Given the description of an element on the screen output the (x, y) to click on. 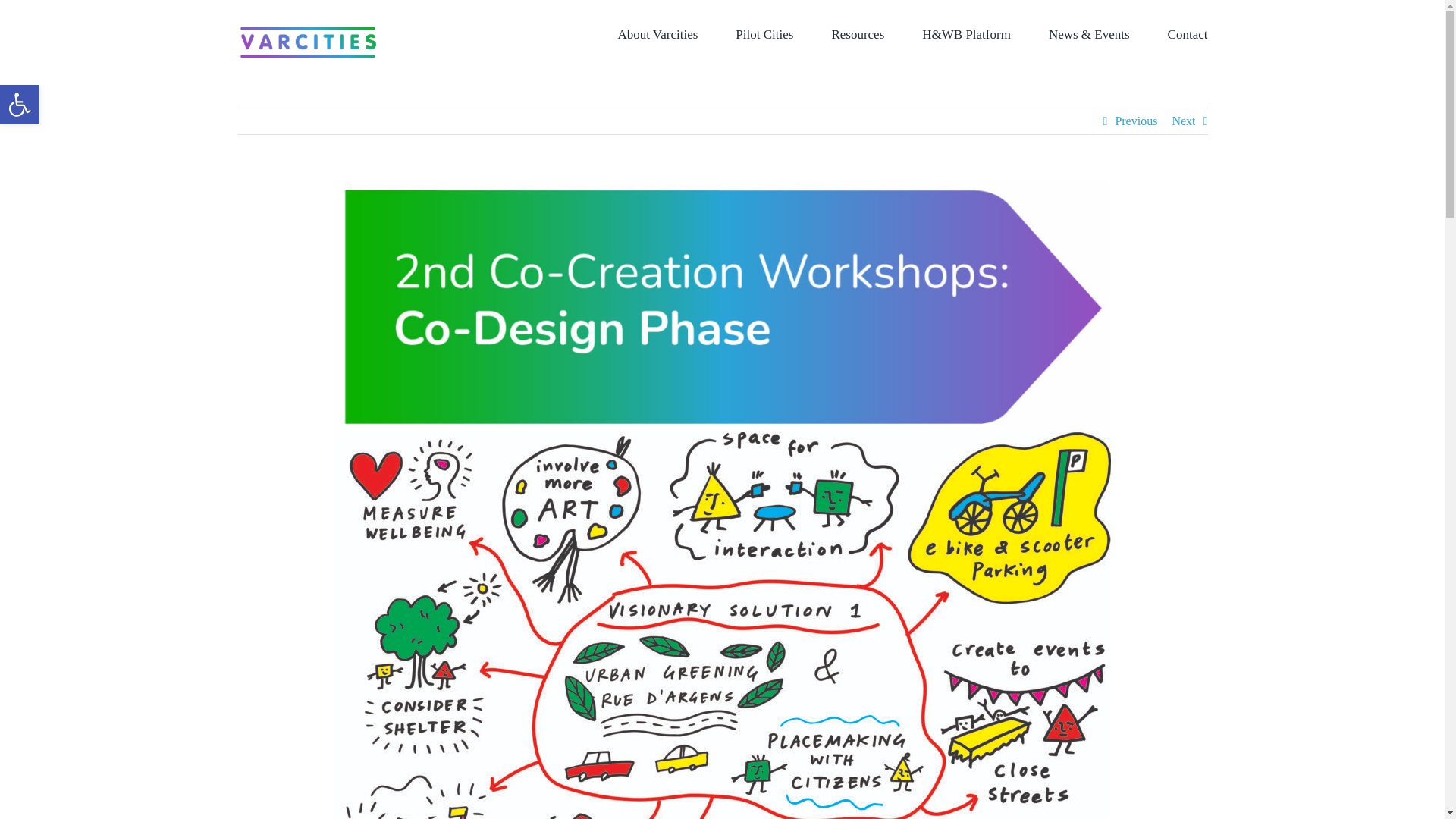
Increase Text (19, 104)
Resources (19, 104)
Readable Font (857, 33)
Decrease Text (19, 104)
